Given the description of an element on the screen output the (x, y) to click on. 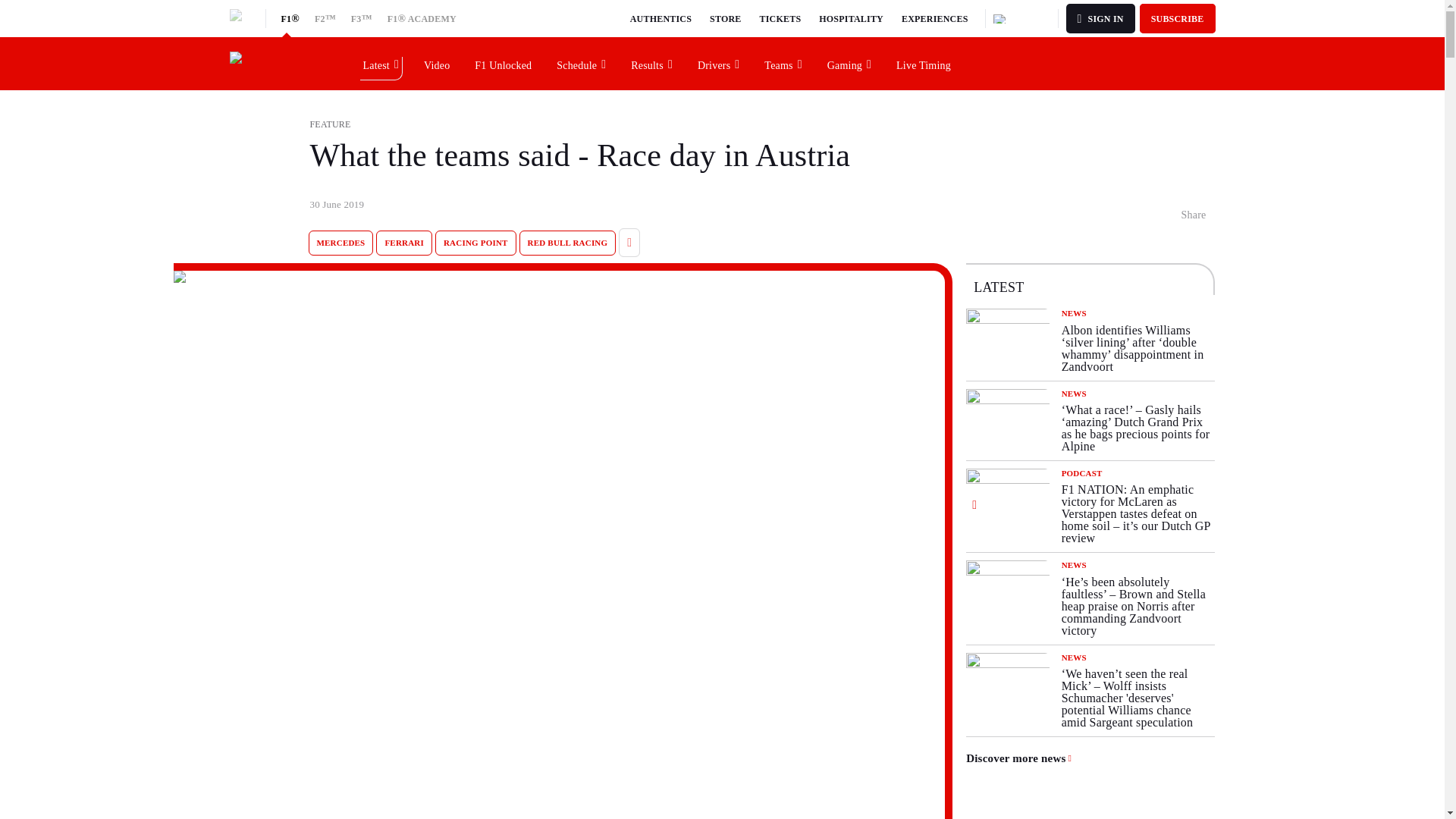
STORE (725, 18)
Discover more news (1018, 758)
Live Timing (923, 63)
EXPERIENCES (934, 18)
RACING POINT (475, 242)
Results (651, 63)
Video (437, 63)
AUTHENTICS (660, 18)
SUBSCRIBE (1177, 18)
Teams (782, 63)
